Given the description of an element on the screen output the (x, y) to click on. 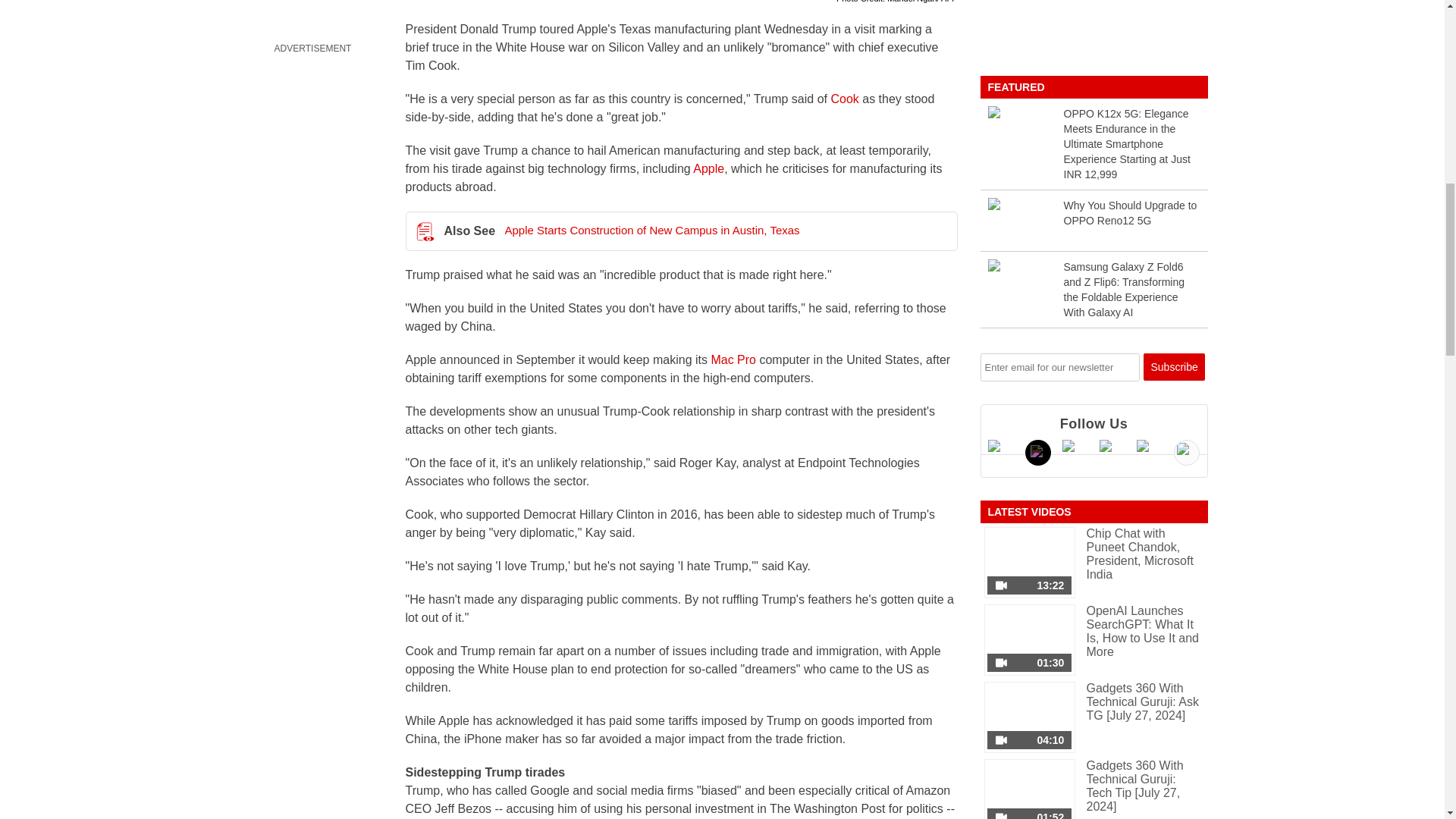
Subscribe (1173, 366)
